Given the description of an element on the screen output the (x, y) to click on. 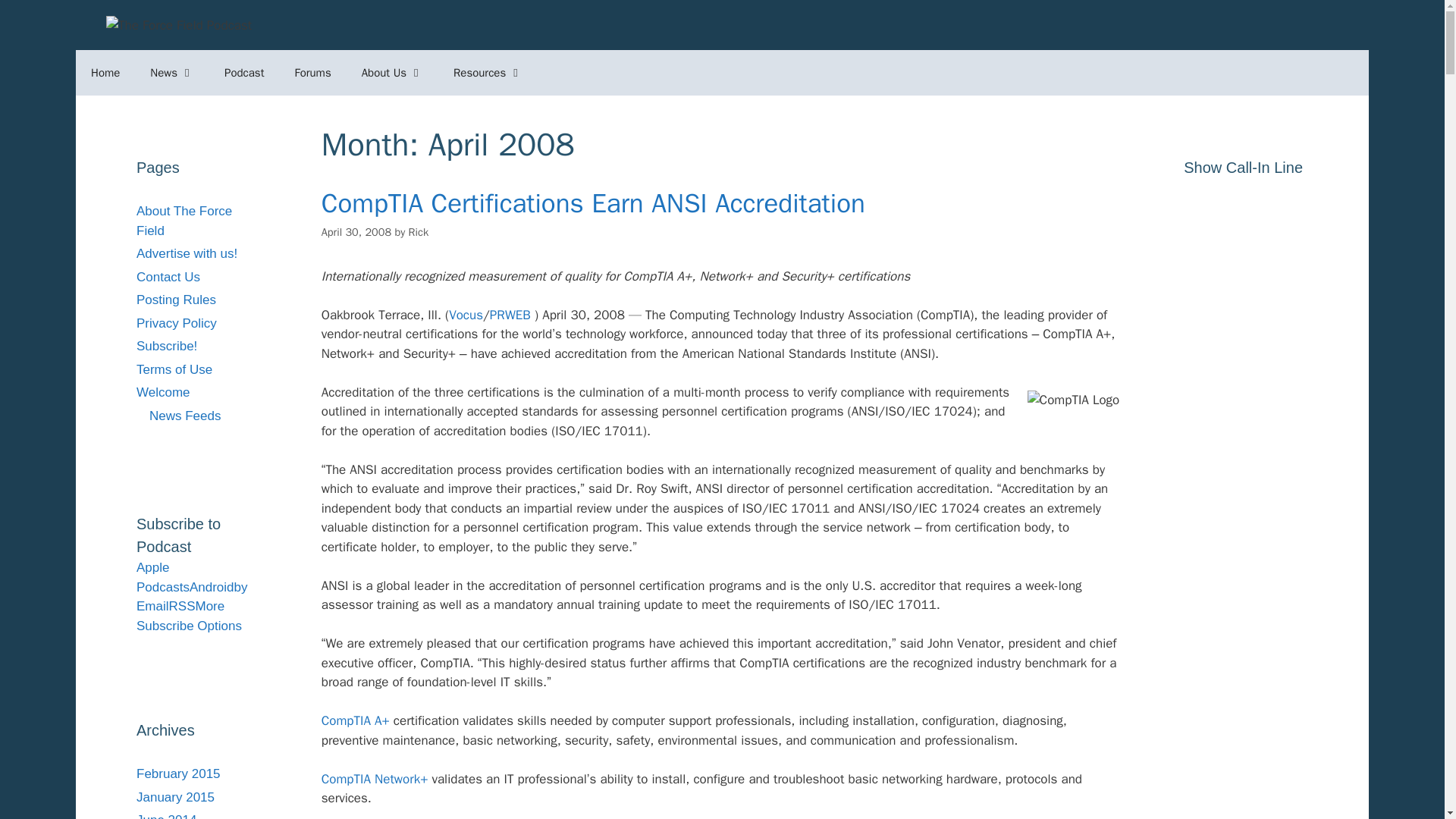
Resources (487, 72)
Forums (312, 72)
Rick (419, 232)
News (172, 72)
Vocus (465, 314)
Home (105, 72)
About Us (392, 72)
CompTIA Certifications Earn ANSI Accreditation (592, 203)
View all posts by Rick (419, 232)
PRWEB (510, 314)
